Given the description of an element on the screen output the (x, y) to click on. 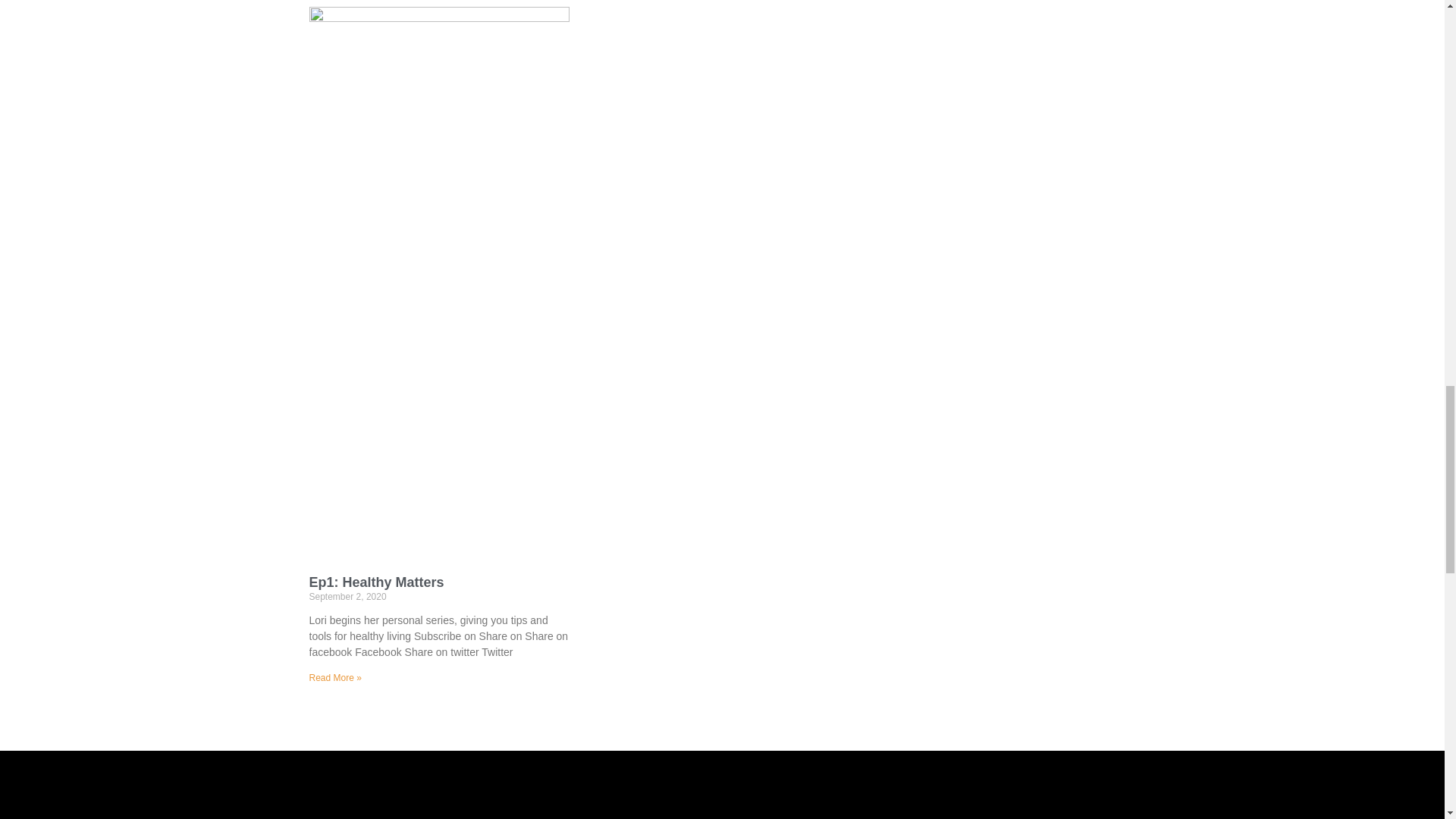
Ep1: Healthy Matters (376, 581)
